Given the description of an element on the screen output the (x, y) to click on. 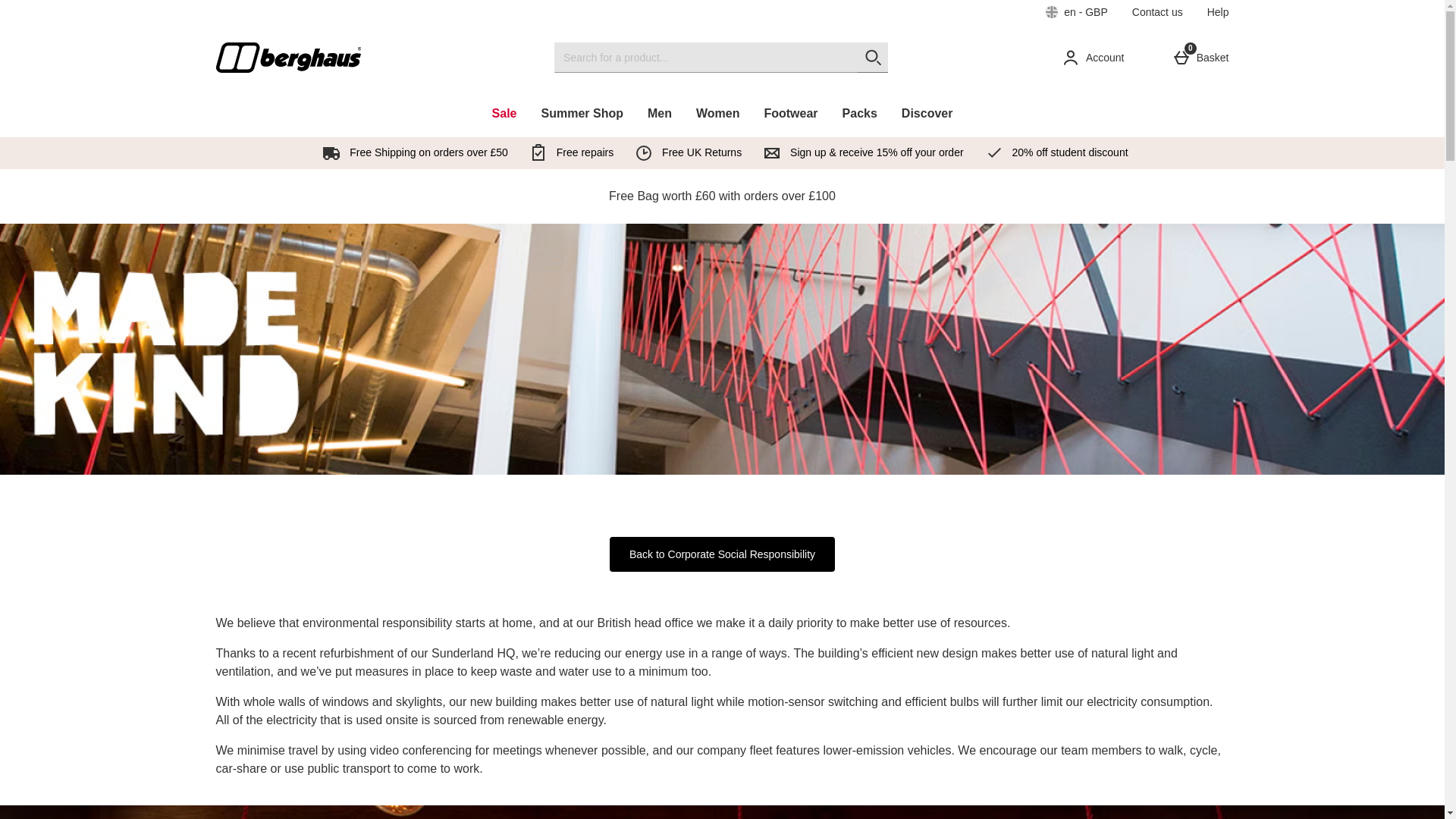
Account (1096, 57)
Help (1203, 57)
Skip to main content (1218, 12)
Sale (59, 7)
Contact us (504, 113)
en - GBP (1157, 12)
Start search (1076, 12)
